Given the description of an element on the screen output the (x, y) to click on. 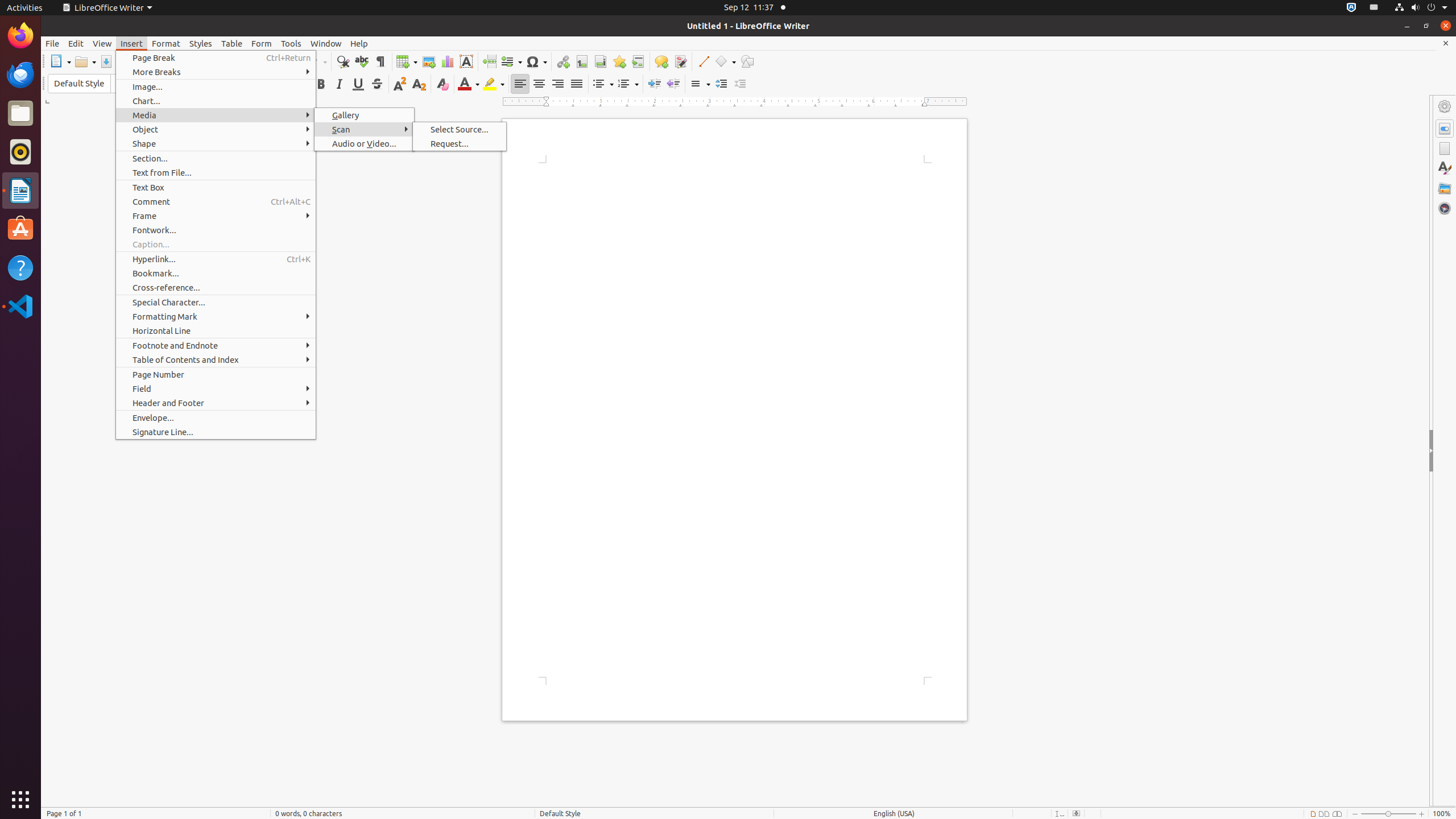
Request... Element type: menu-item (459, 143)
Properties Element type: radio-button (1444, 128)
Ubuntu Software Element type: push-button (20, 229)
Gallery Element type: radio-button (1444, 188)
Italic Element type: toggle-button (338, 83)
